Given the description of an element on the screen output the (x, y) to click on. 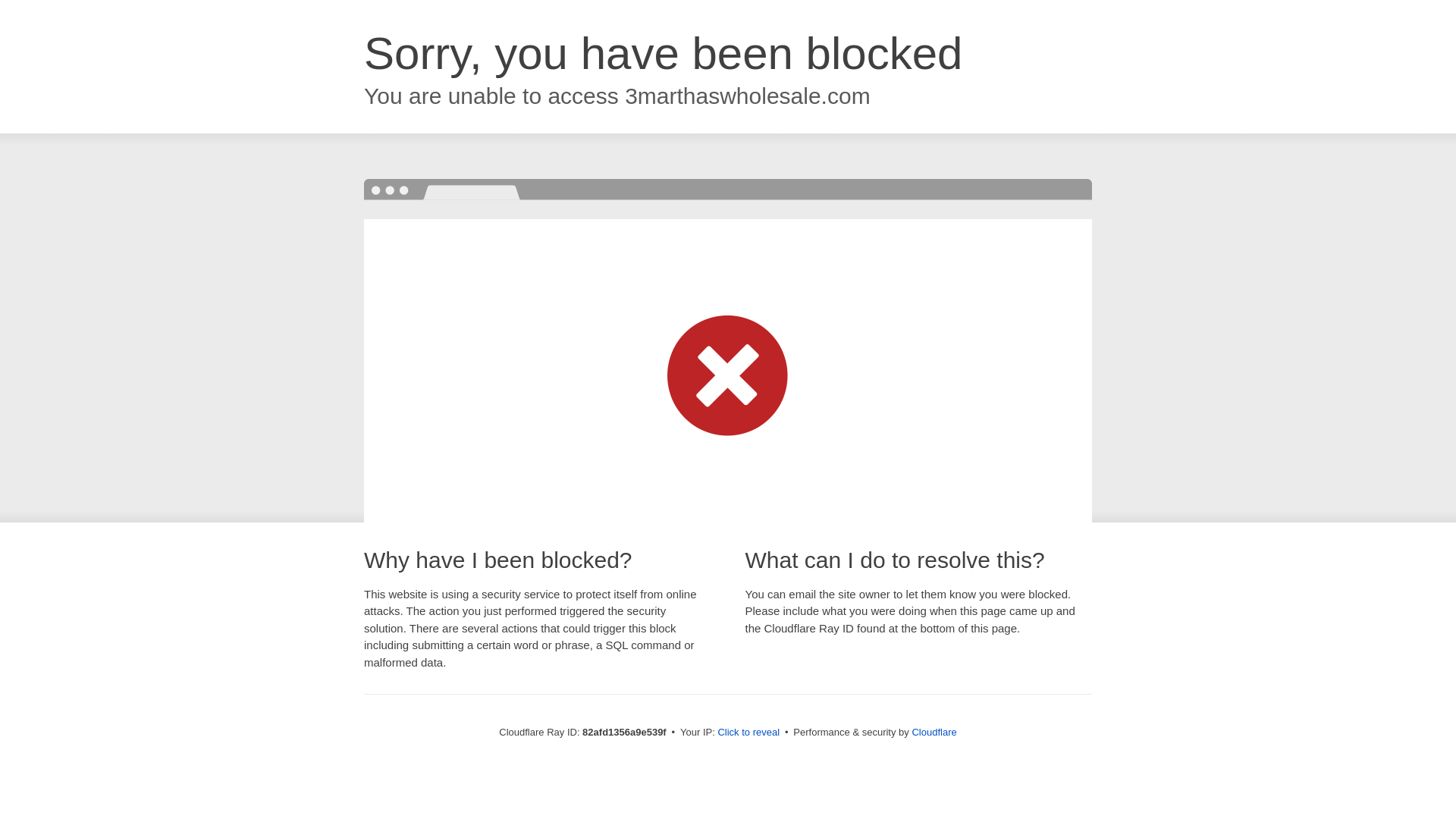
Click to reveal Element type: text (748, 732)
Cloudflare Element type: text (933, 731)
